Given the description of an element on the screen output the (x, y) to click on. 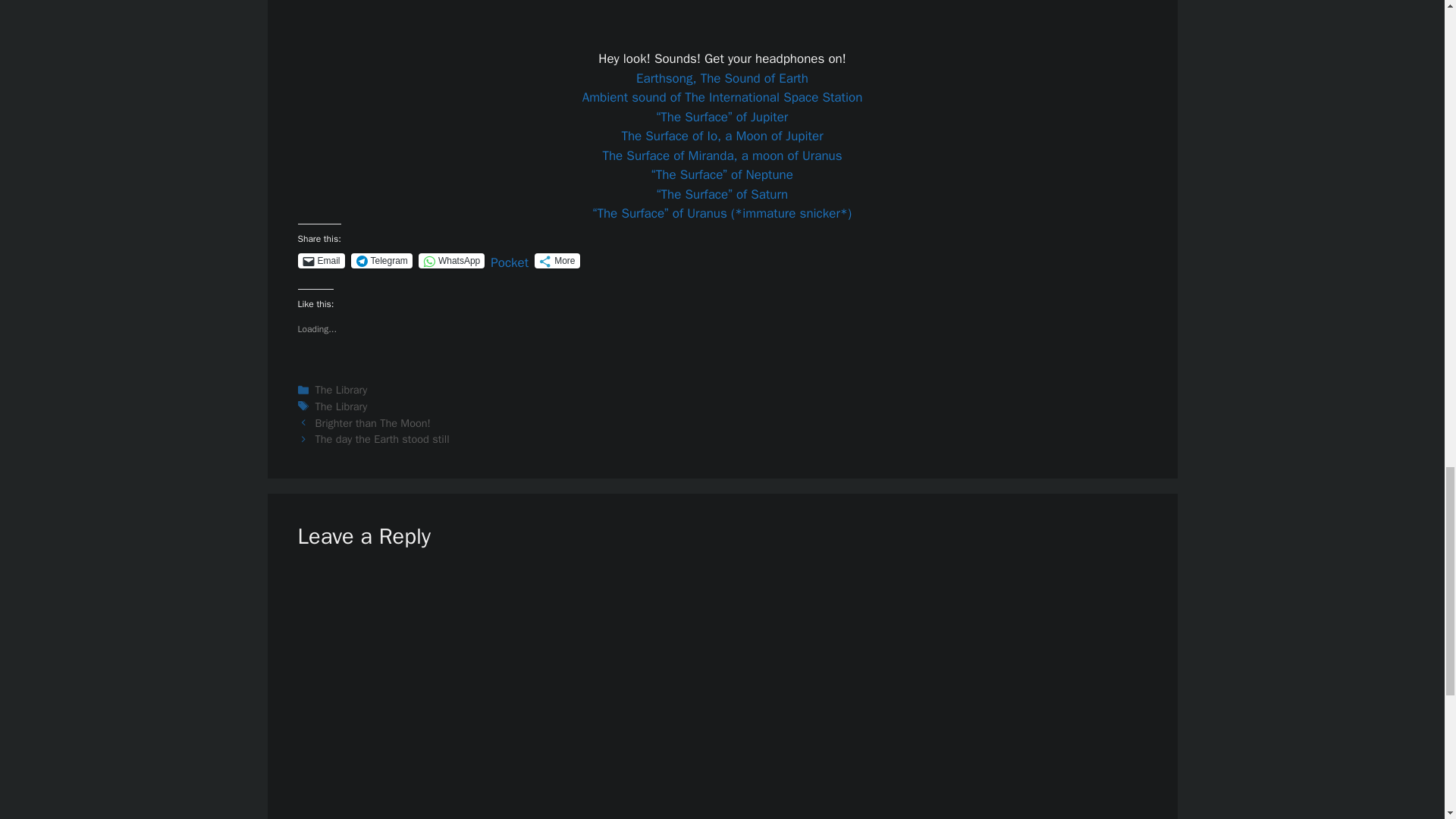
The Surface of Io, a Moon of Jupiter (721, 135)
More (556, 260)
The Library (341, 389)
Telegram (381, 260)
Earthsong, The Sound of Earth (722, 78)
The Library (341, 406)
Pocket (509, 262)
Click to share on Telegram (381, 260)
The day the Earth stood still (382, 438)
